Given the description of an element on the screen output the (x, y) to click on. 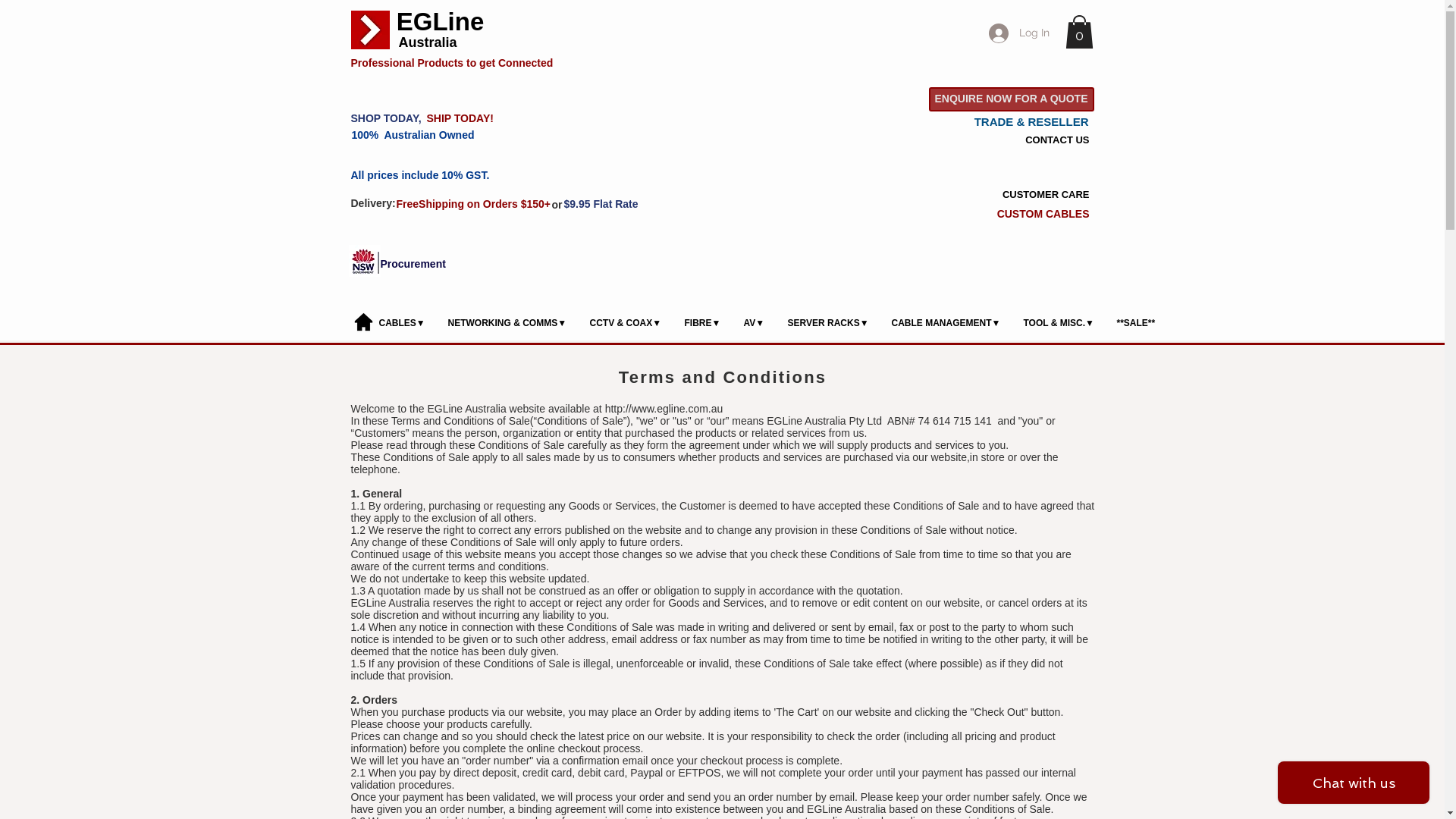
EGLine Element type: text (439, 21)
CUSTOM CABLES Element type: text (1042, 214)
ENQUIRE NOW FOR A QUOTE Element type: text (1010, 99)
$9.95 Flat Rate Element type: text (603, 204)
TRADE & RESELLER Element type: text (1030, 121)
CUSTOMER CARE Element type: text (1034, 194)
Australia Element type: text (427, 42)
http://www.egline.com.au Element type: text (664, 408)
Site Search Element type: hover (788, 212)
Log In Element type: text (1019, 32)
SHOP TODAY, Element type: text (389, 118)
CONTACT US Element type: text (1034, 140)
FreeShipping on Orders $150+ Element type: text (473, 204)
**SALE** Element type: text (1136, 323)
0 Element type: text (1078, 31)
SHIP TODAY! Element type: text (465, 118)
